Given the description of an element on the screen output the (x, y) to click on. 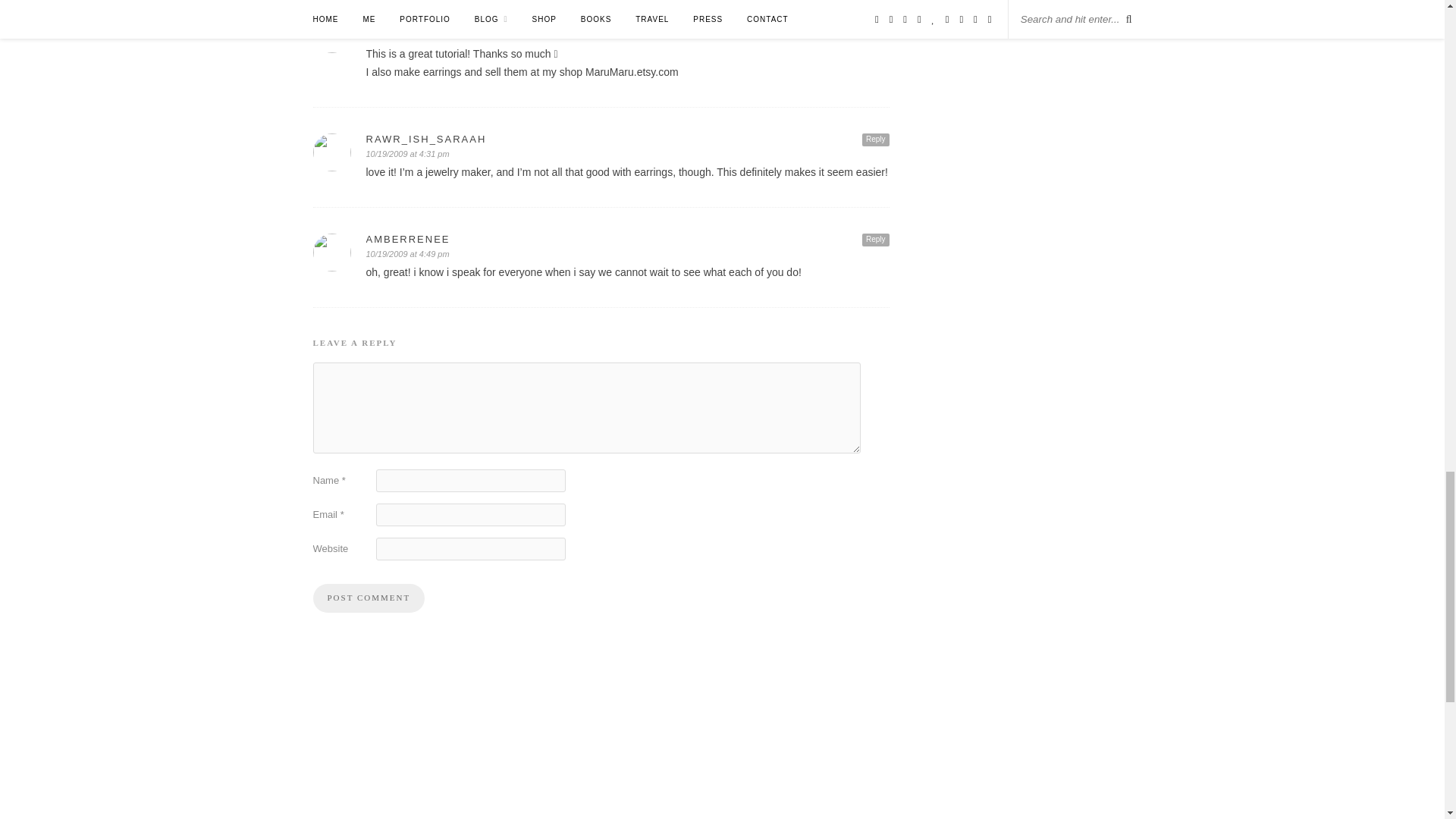
Post Comment (369, 597)
